Given the description of an element on the screen output the (x, y) to click on. 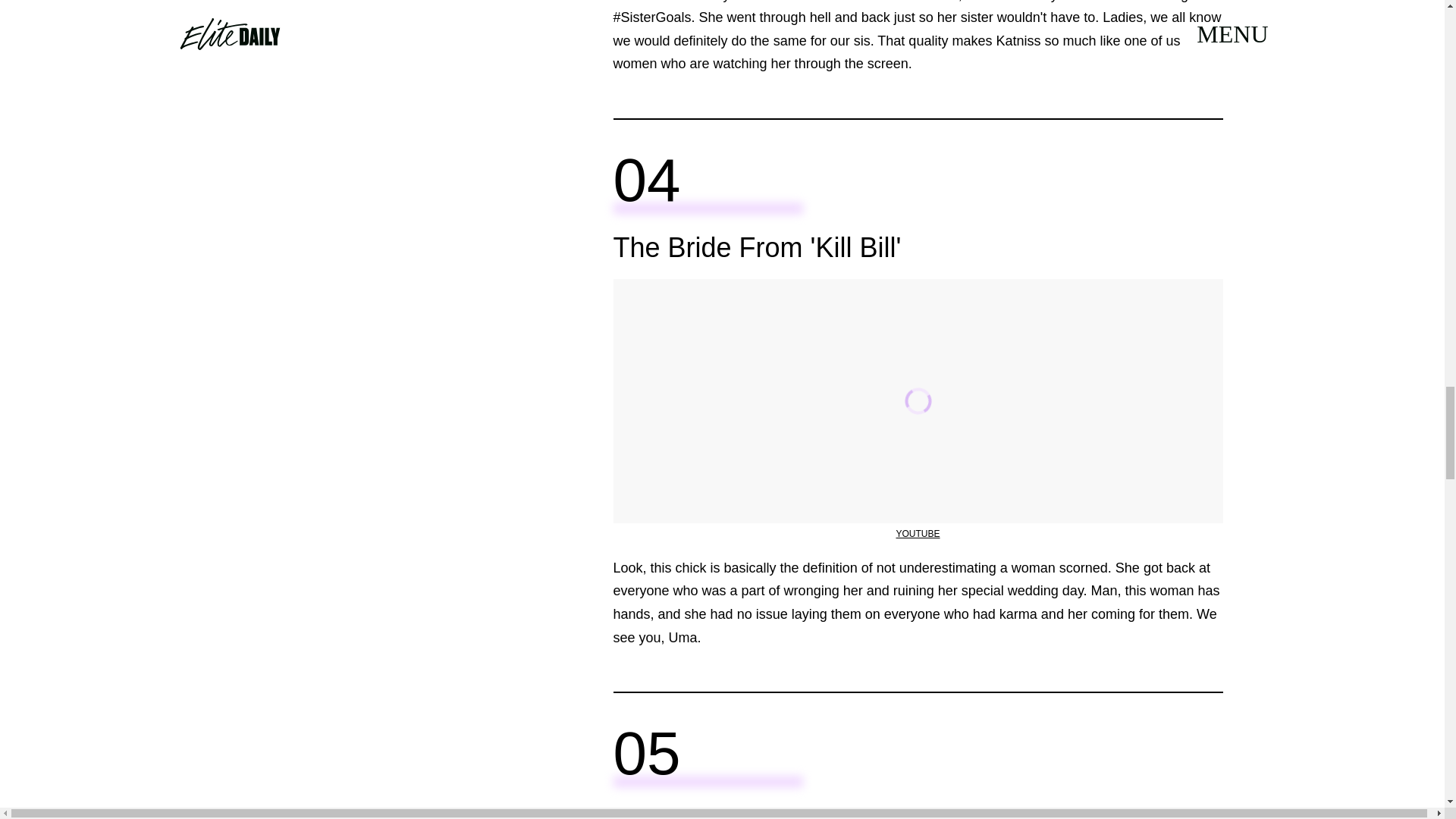
YOUTUBE (917, 533)
